Given the description of an element on the screen output the (x, y) to click on. 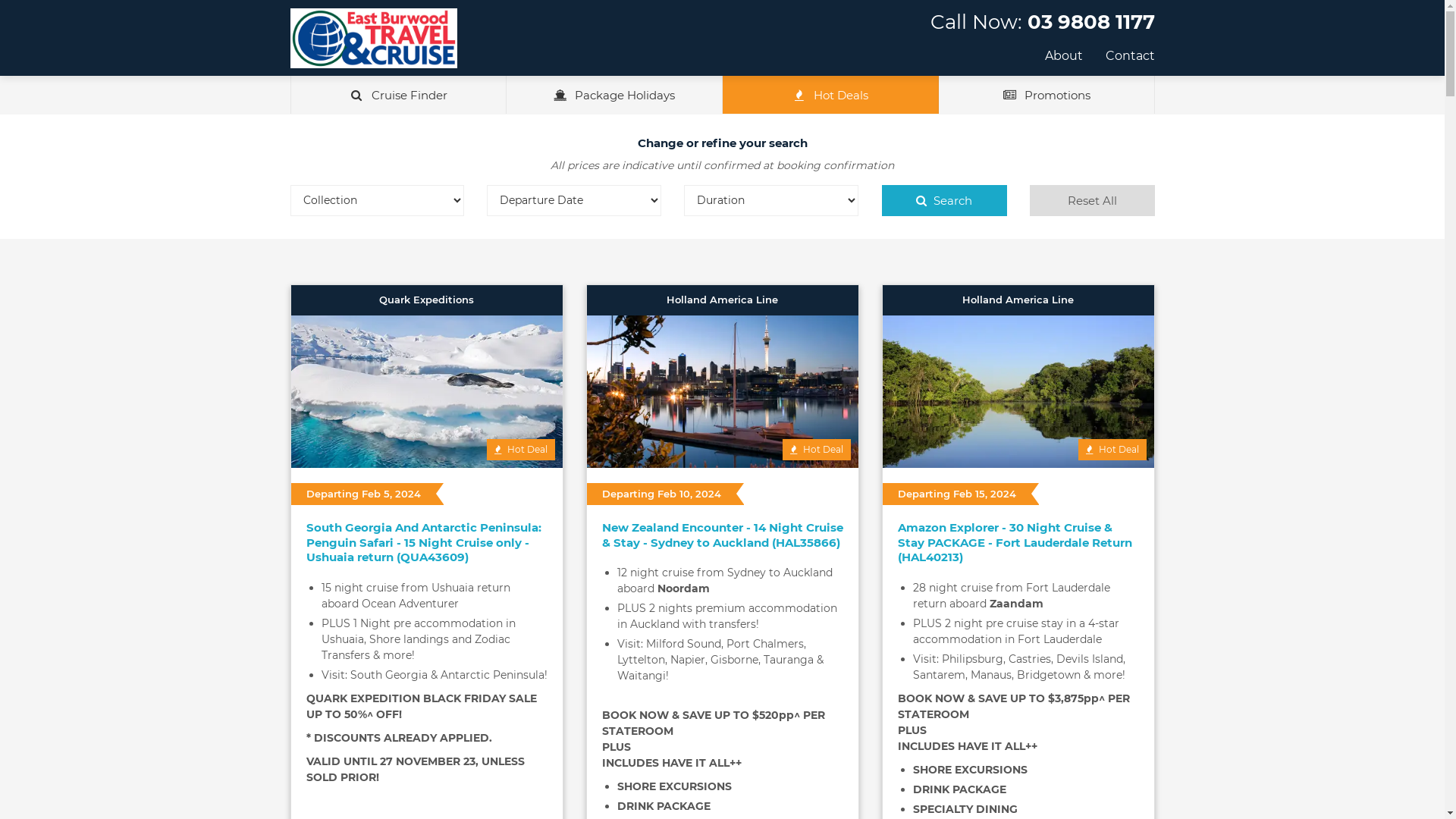
Package Holidays Element type: text (614, 94)
Hot Deals Element type: text (829, 94)
Contact Element type: text (1129, 56)
Search Element type: text (943, 200)
Reset All Element type: text (1091, 200)
About Element type: text (1063, 56)
Cruise Finder Element type: text (397, 94)
03 9808 1177 Element type: text (1090, 21)
Promotions Element type: text (1046, 94)
